Given the description of an element on the screen output the (x, y) to click on. 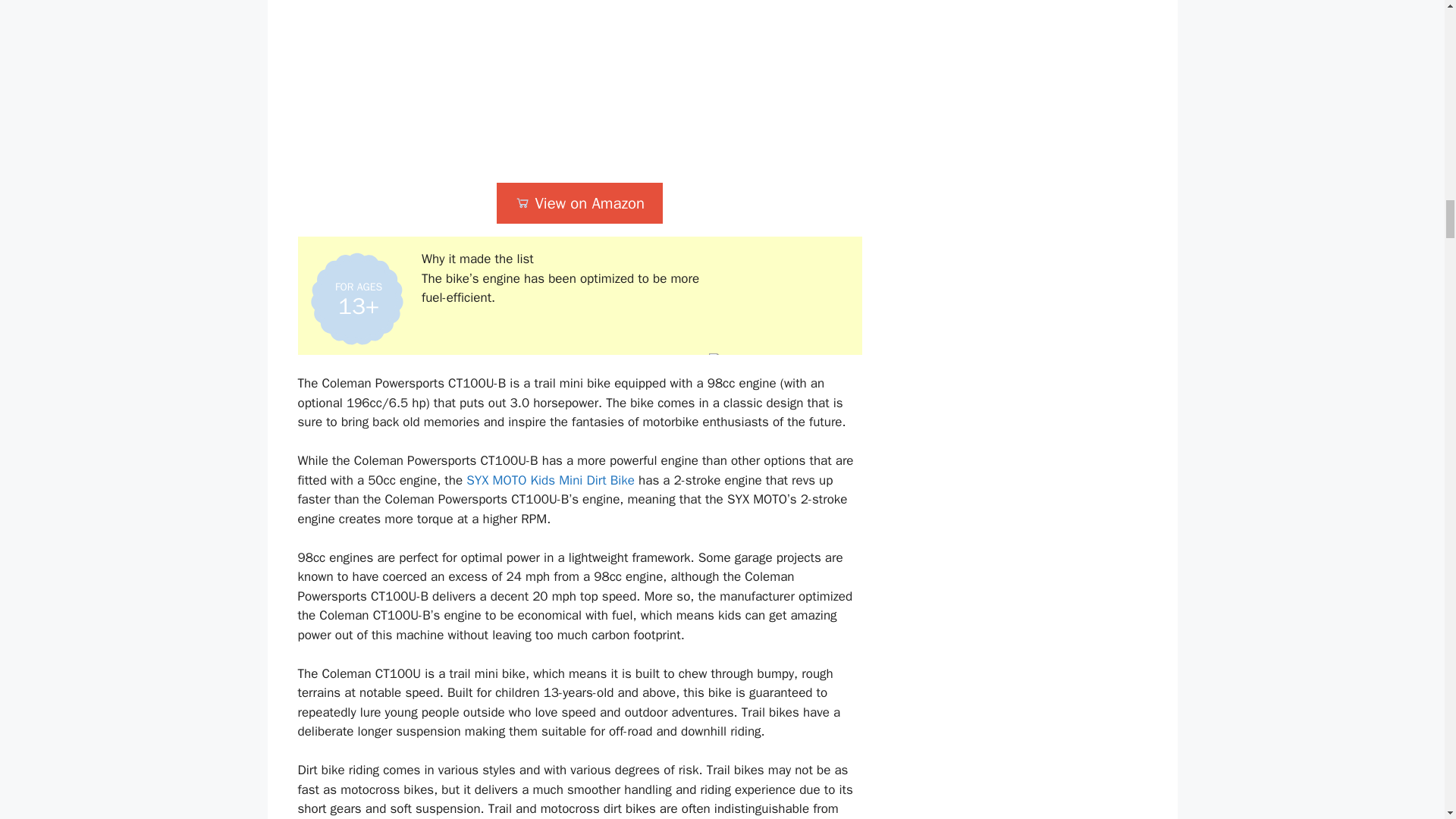
View on Amazon (579, 203)
View on Amazon (579, 203)
Coleman Powersports CT100U-B (579, 84)
SYX MOTO Kids Mini Dirt Bike (549, 480)
